Given the description of an element on the screen output the (x, y) to click on. 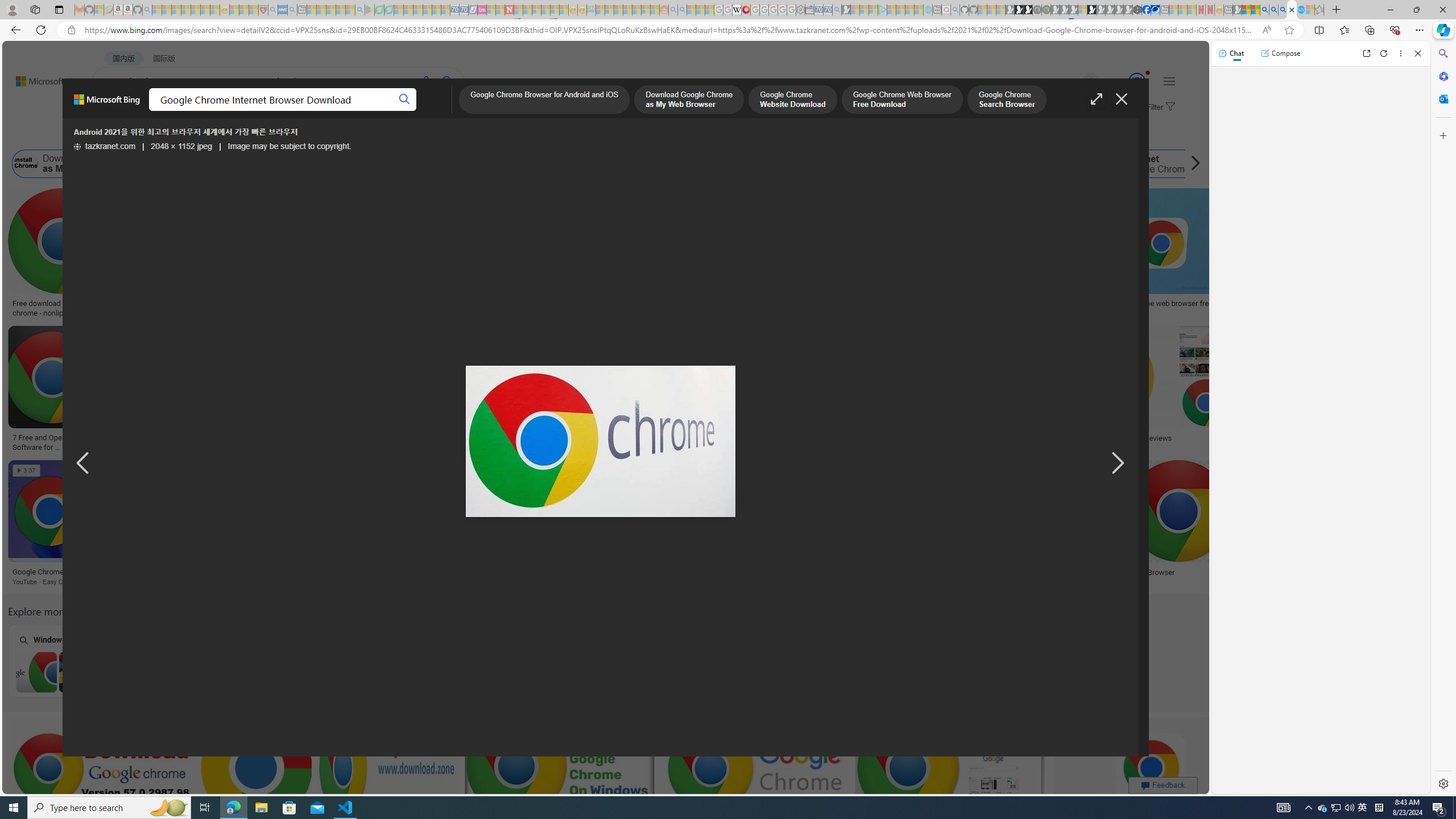
Download Files Google Chrome Browser Download - vrogue.co (716, 307)
Download internet explorer 9.0 free - snorobot (465, 571)
Settings and quick links (1168, 80)
Google Chrome Fast Download (997, 163)
Chrome Browser Download Windows 7 (79, 671)
Class: item col (1147, 163)
